Given the description of an element on the screen output the (x, y) to click on. 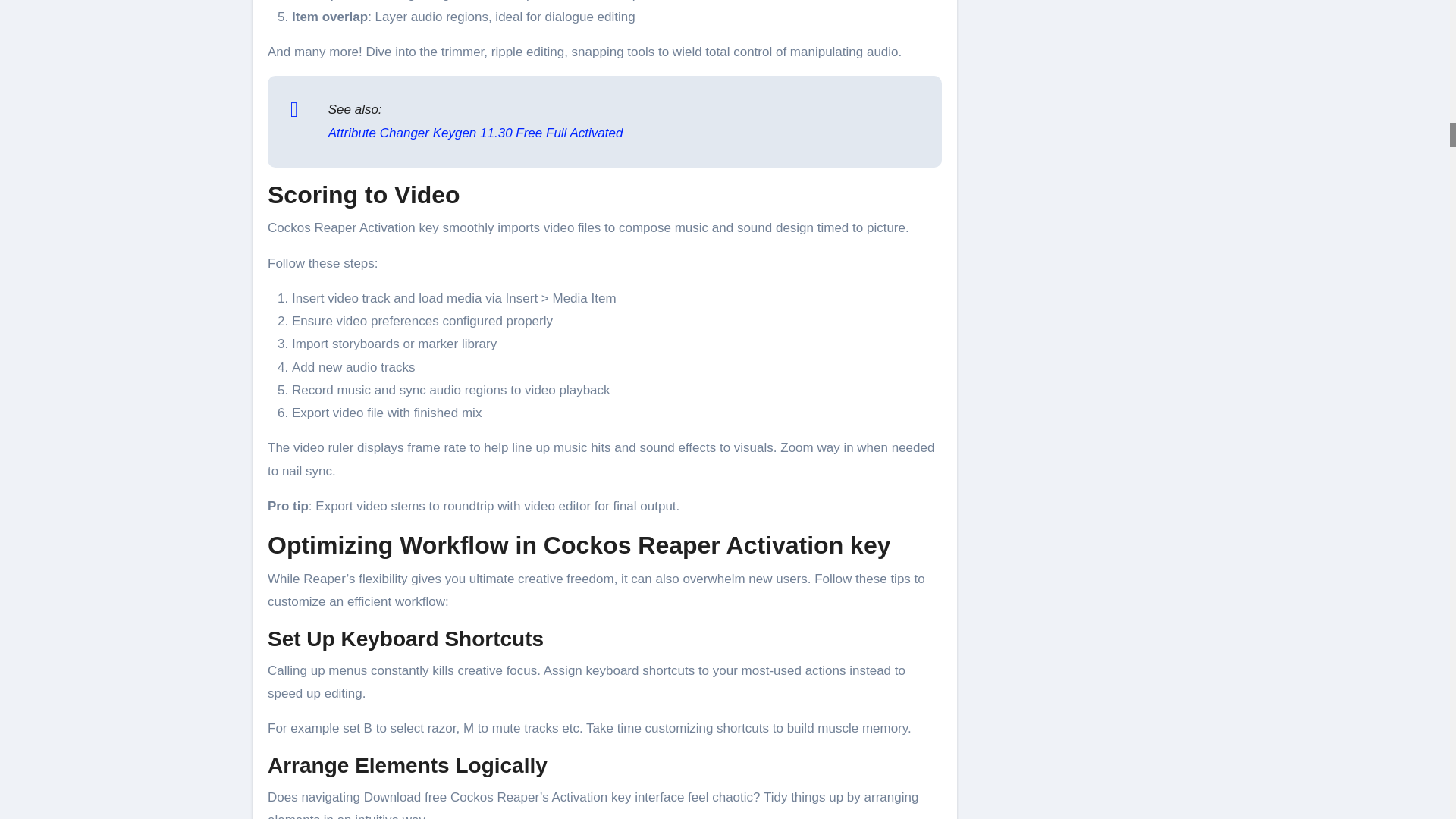
Attribute Changer Keygen 11.30 Free Full Activated (476, 133)
